Given the description of an element on the screen output the (x, y) to click on. 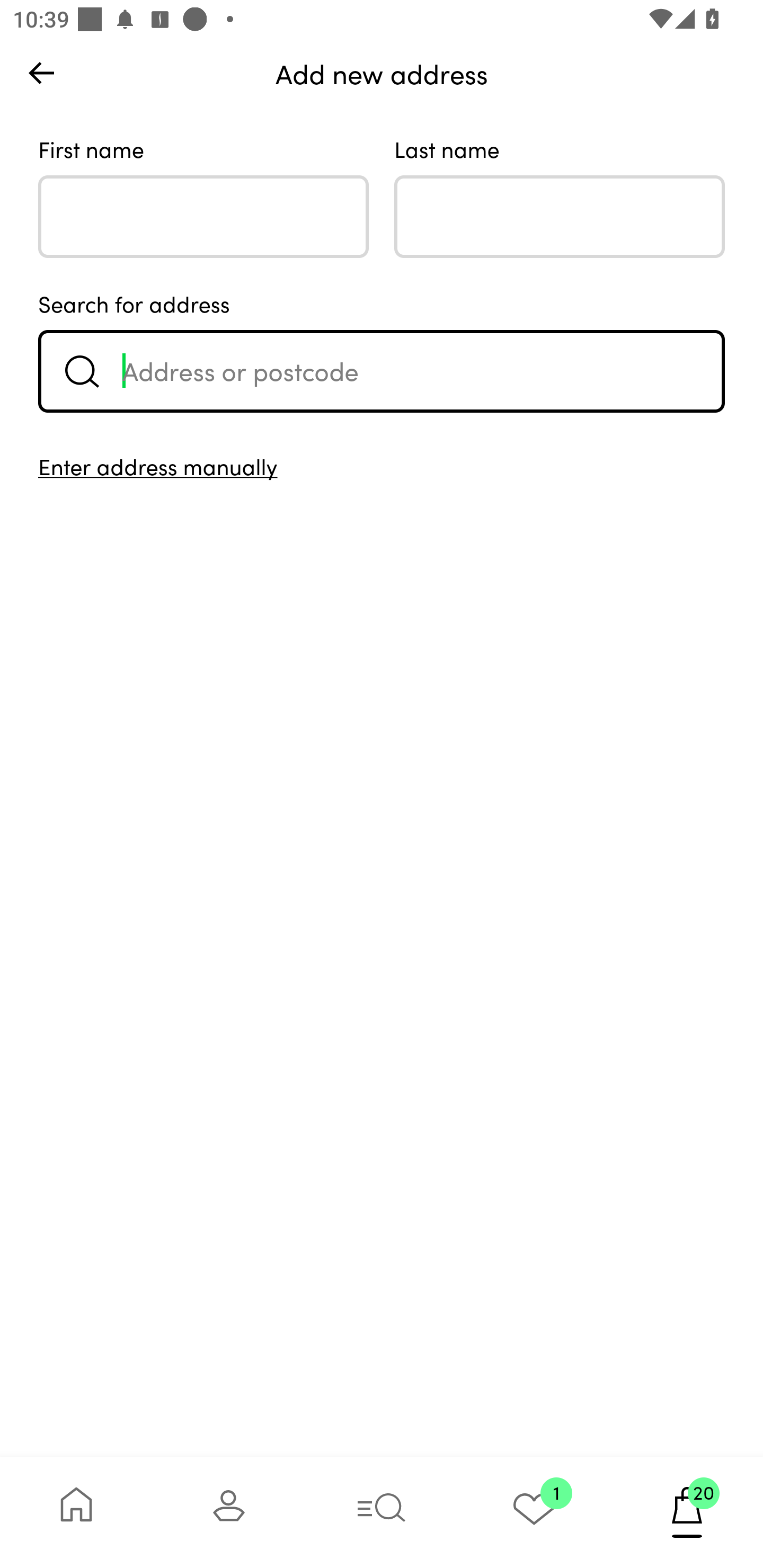
Address or postcode (381, 370)
Enter address manually (381, 466)
1 (533, 1512)
20 (686, 1512)
